Given the description of an element on the screen output the (x, y) to click on. 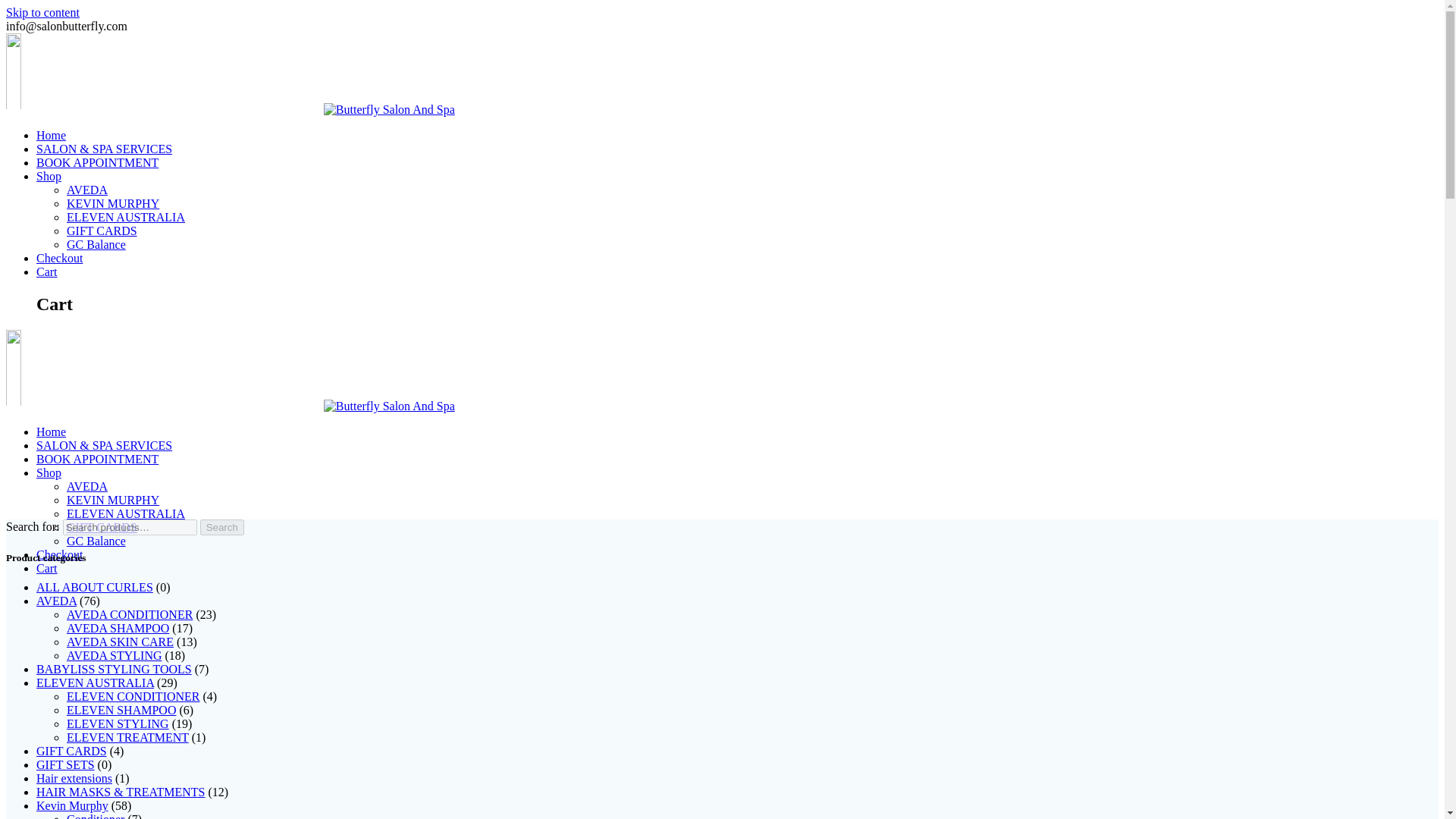
GC Balance (95, 244)
AVEDA (86, 189)
Shop (48, 472)
GIFT CARDS (101, 526)
ELEVEN AUSTRALIA (95, 682)
Home (50, 134)
Home (50, 431)
BOOK APPOINTMENT (97, 459)
KEVIN MURPHY (112, 499)
ELEVEN CONDITIONER (133, 696)
